Given the description of an element on the screen output the (x, y) to click on. 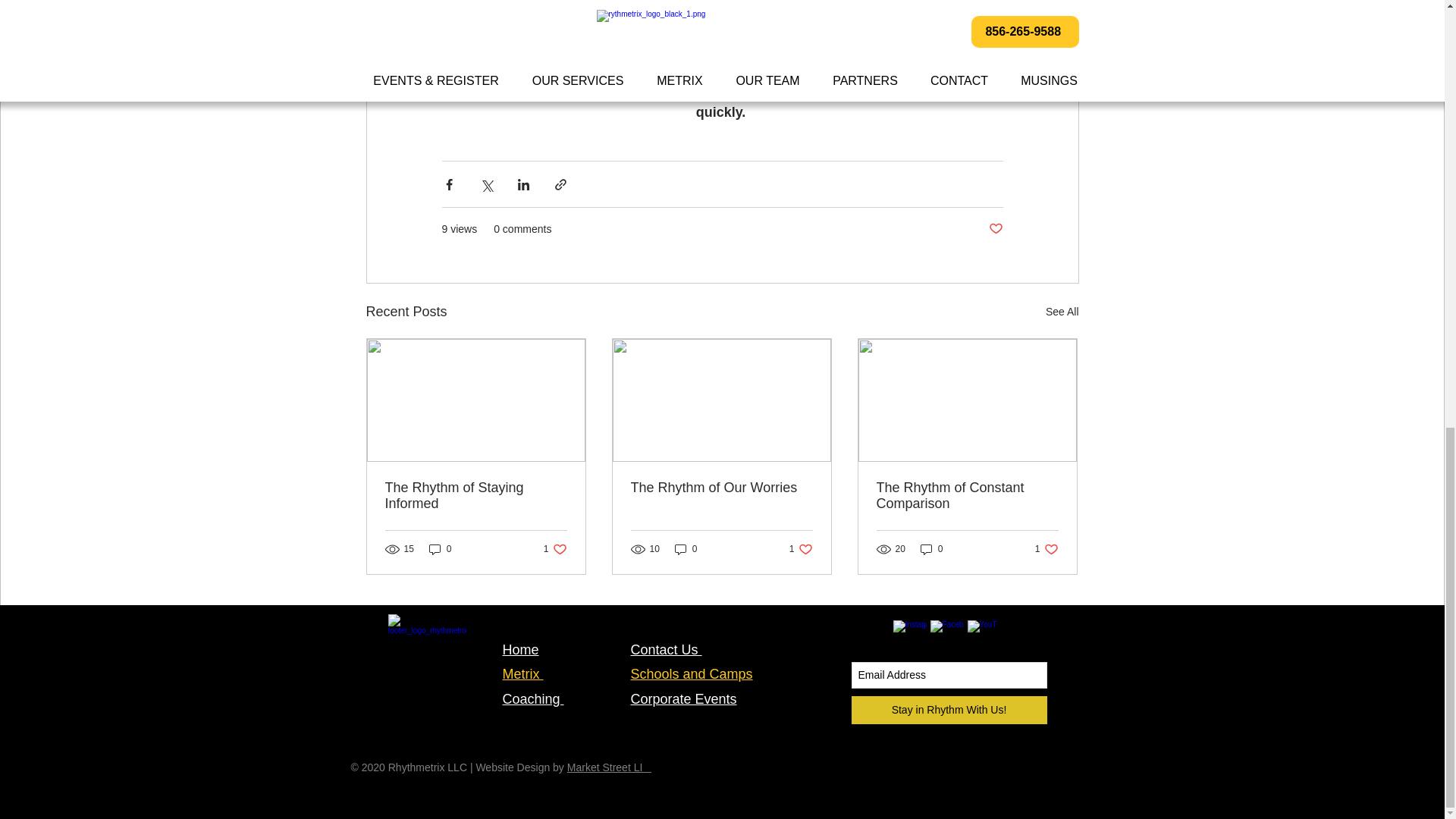
The Rhythm of Constant Comparison (1046, 548)
0 (967, 495)
0 (931, 548)
The Rhythm of Staying Informed (440, 548)
The Rhythm of Our Worries (476, 495)
Home (721, 487)
0 (555, 548)
See All (520, 649)
